Given the description of an element on the screen output the (x, y) to click on. 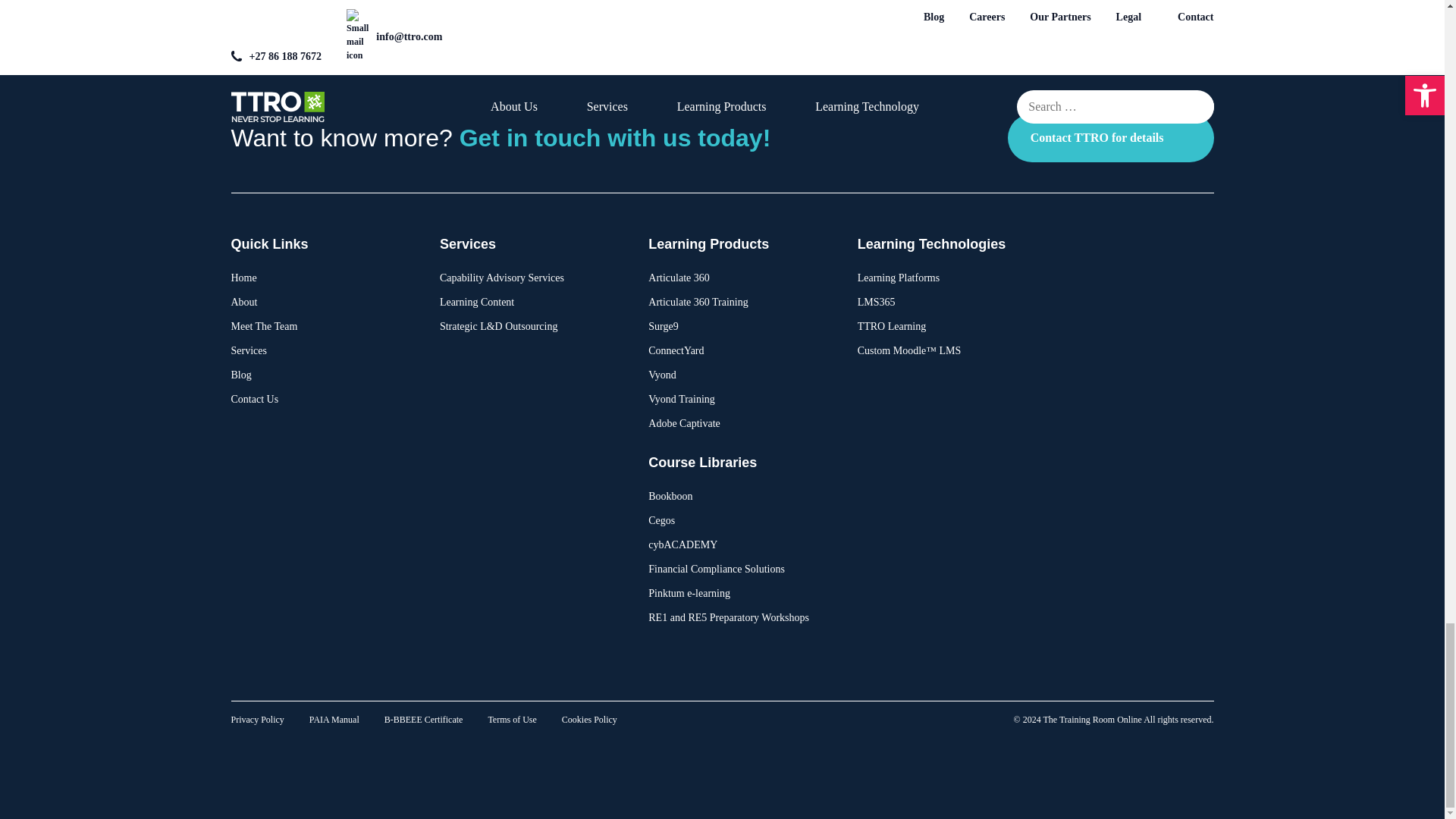
 TTRO Privacy Policy (256, 719)
TTRO Terms of Use (511, 719)
TTRO B-BBEEE Certificate (423, 719)
TTRO Cookies Policy (589, 719)
TTRO on Facebook (1118, 674)
TTRO on Instagram (1054, 674)
TTRO on Linkedin (1150, 674)
TTRO PAIA Manual (333, 719)
TTRO.COM (1189, 654)
TTRO on X (1086, 674)
